Given the description of an element on the screen output the (x, y) to click on. 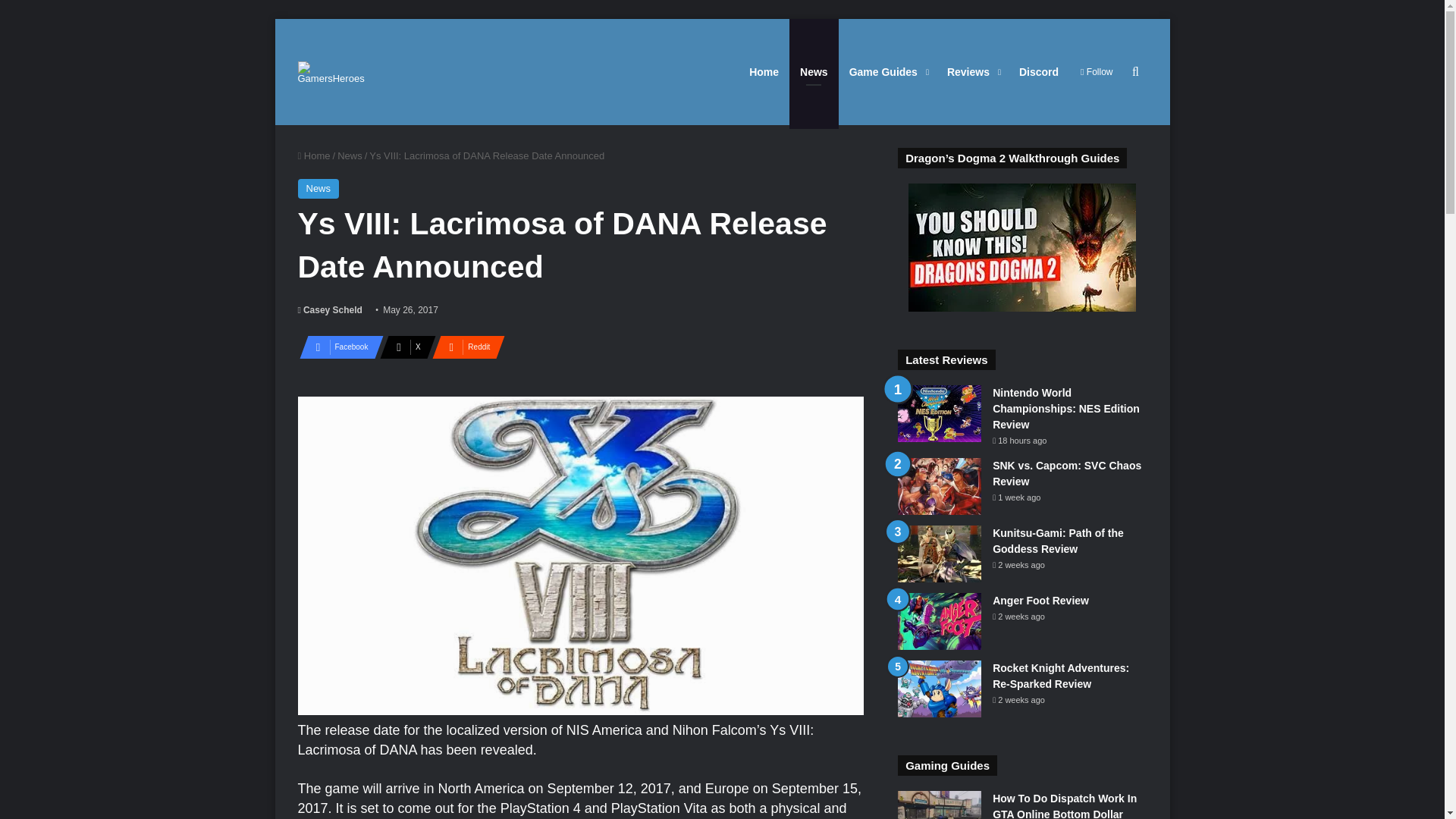
Reddit (464, 346)
X (403, 346)
Game Guides (887, 71)
News (318, 189)
Casey Scheld (329, 309)
GamersHeroes (330, 71)
Casey Scheld (329, 309)
Home (313, 155)
Game Guides (887, 71)
News (349, 155)
Facebook (336, 346)
